Given the description of an element on the screen output the (x, y) to click on. 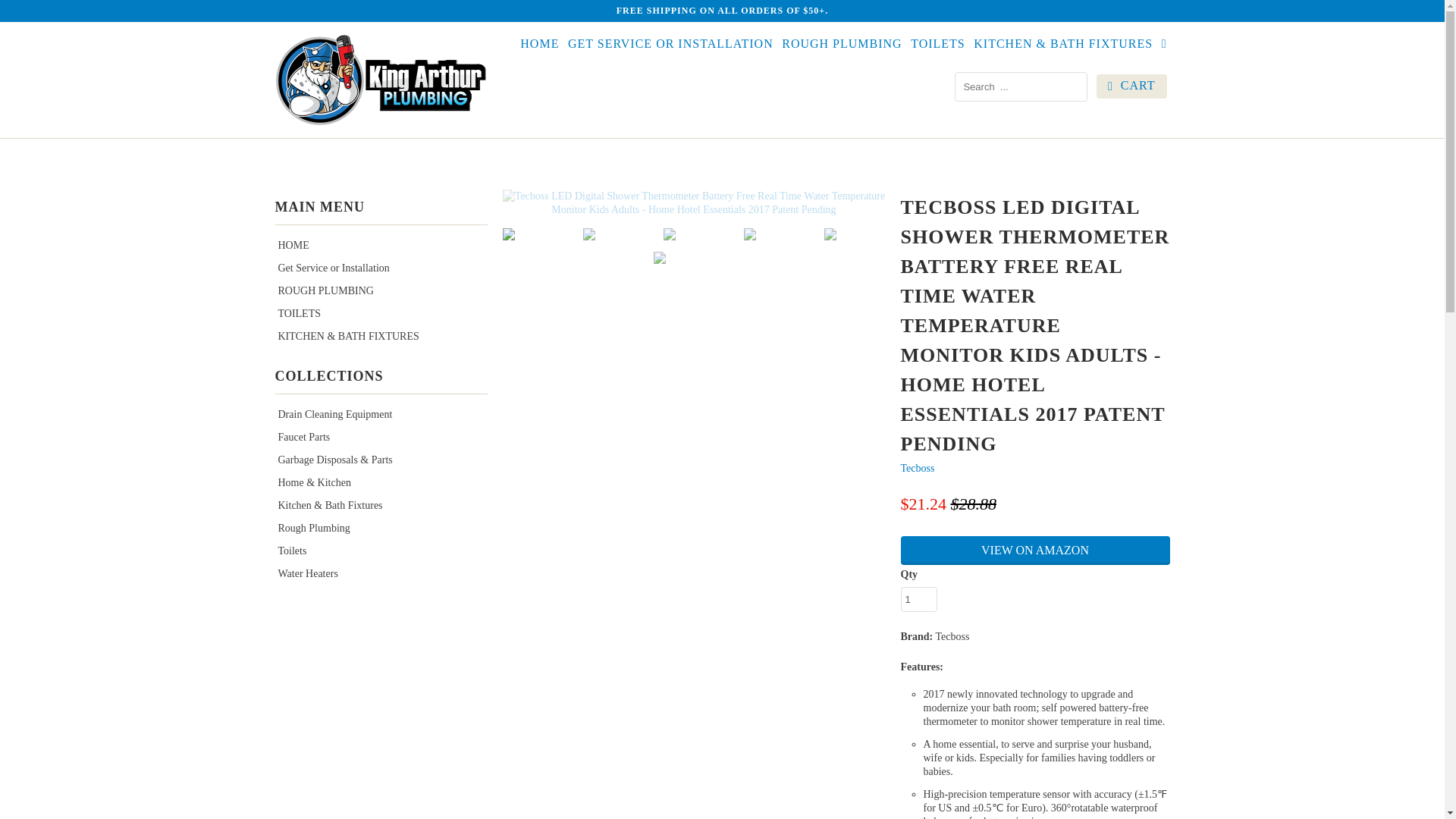
Get Service or Installation (327, 267)
Water Heaters (302, 573)
TOILETS (293, 313)
Drain Cleaning Equipment (329, 414)
TOILETS (293, 313)
Drain Cleaning Equipment (329, 414)
Toilets (286, 550)
Faucet Parts (298, 437)
ROUGH PLUMBING (319, 290)
HOME (287, 244)
ROUGH PLUMBING (841, 46)
CART (1131, 86)
Toilets (286, 550)
1 (919, 599)
